Given the description of an element on the screen output the (x, y) to click on. 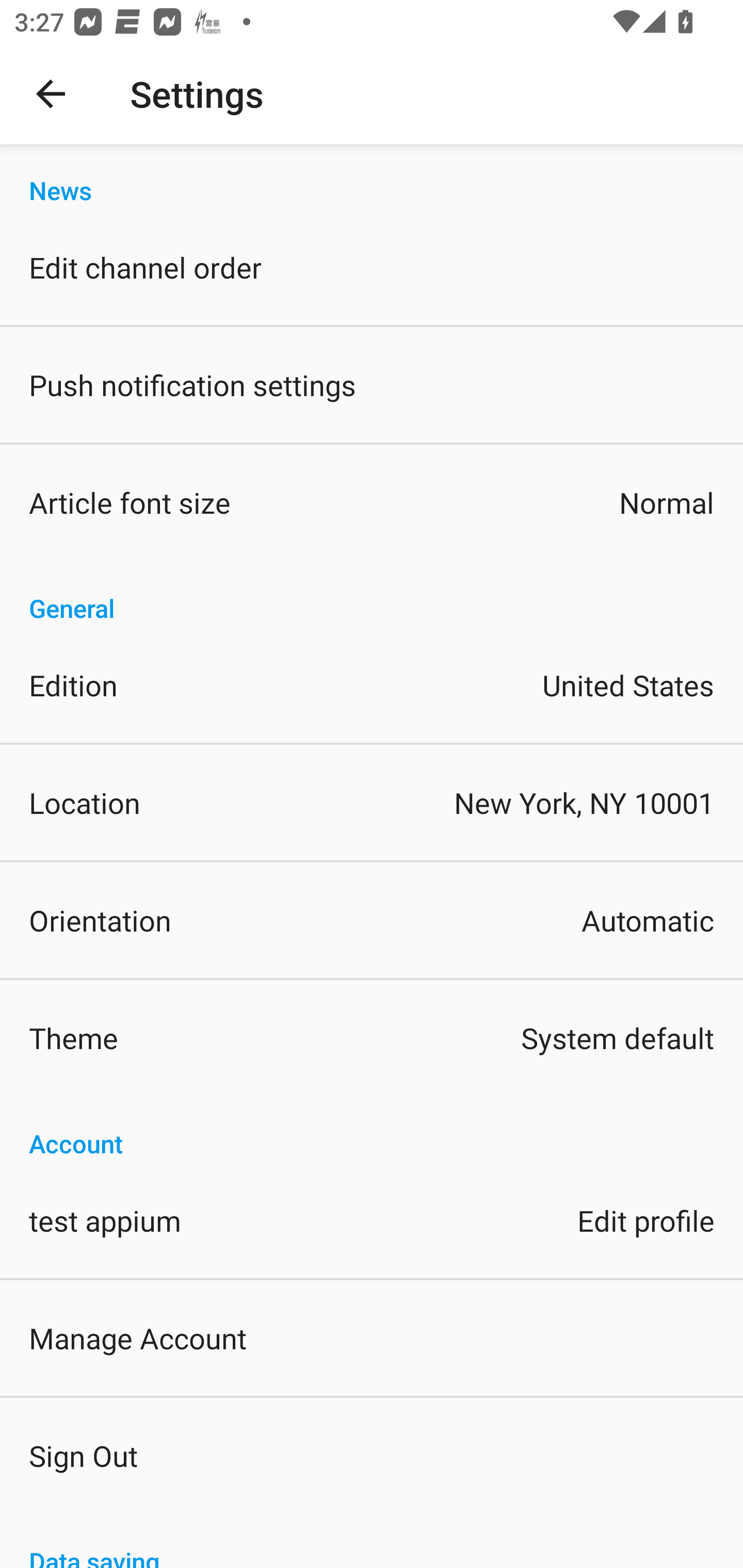
Navigate up (50, 93)
Edit channel order (371, 267)
Push notification settings (371, 384)
Article font size Normal (371, 502)
Edition United States (371, 685)
Location New York, NY 10001 (371, 802)
Orientation Automatic (371, 920)
Theme System default (371, 1038)
test appium Edit profile (371, 1219)
Manage Account (371, 1337)
Sign Out (371, 1455)
